Given the description of an element on the screen output the (x, y) to click on. 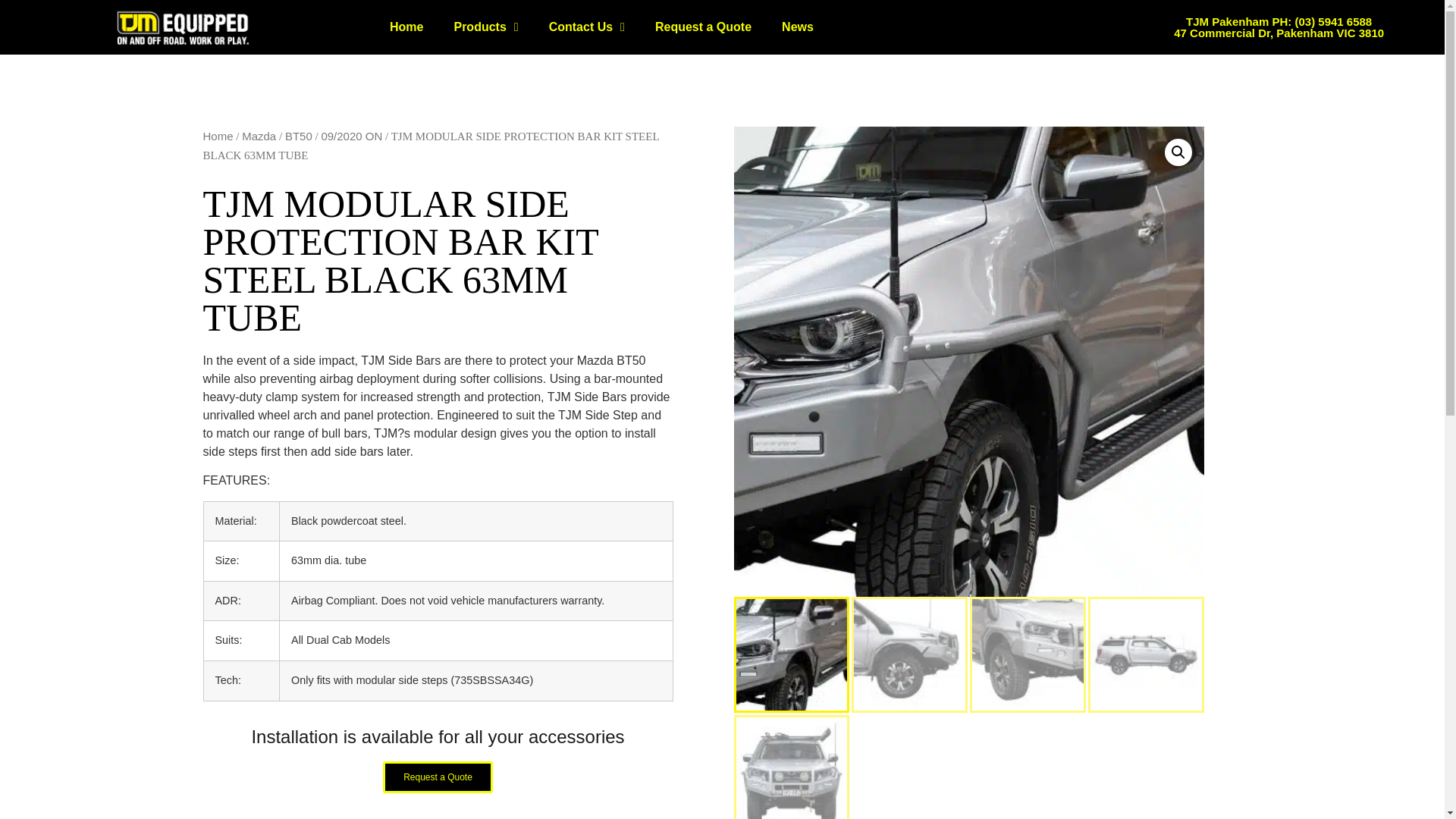
Products (485, 27)
Home (406, 27)
